Given the description of an element on the screen output the (x, y) to click on. 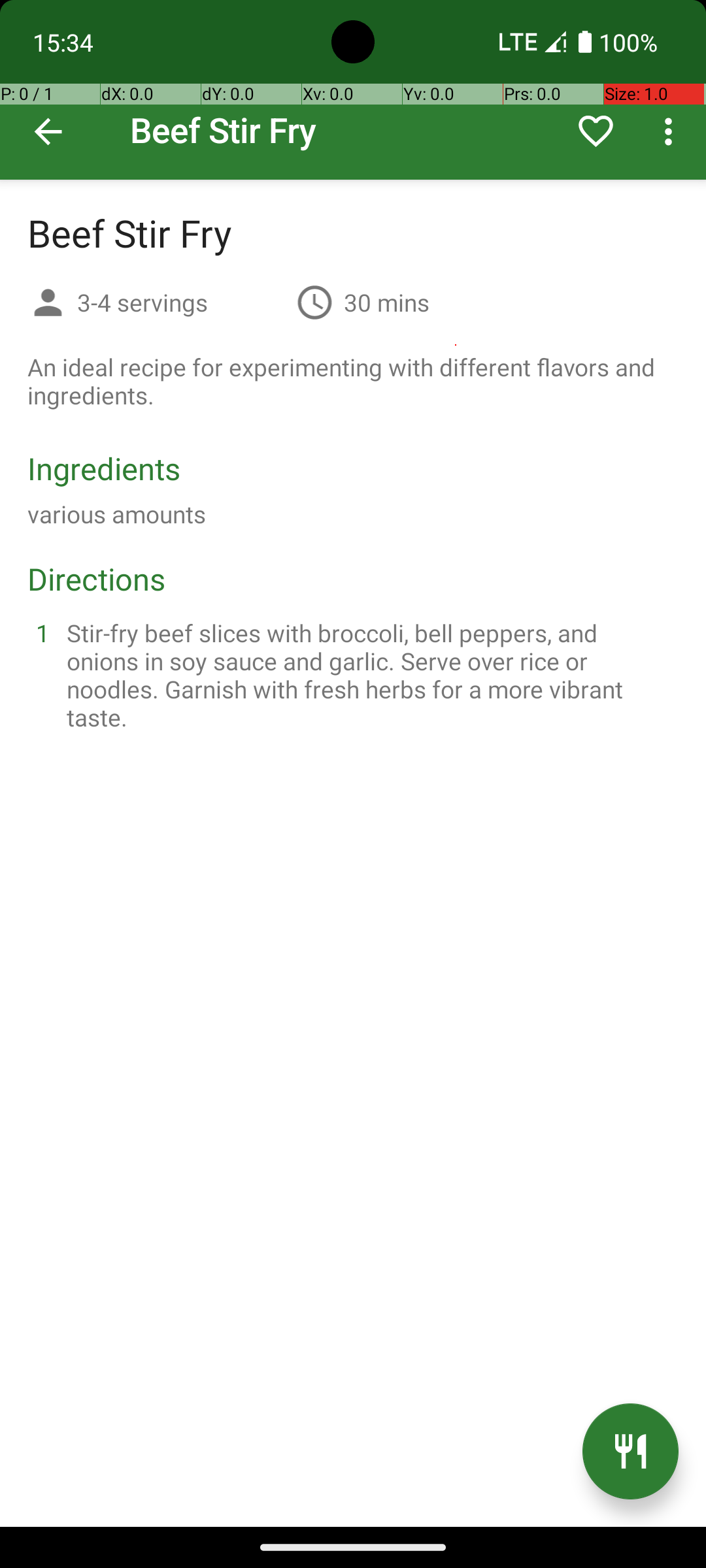
Stir-fry beef slices with broccoli, bell peppers, and onions in soy sauce and garlic. Serve over rice or noodles. Garnish with fresh herbs for a more vibrant taste. Element type: android.widget.TextView (368, 674)
